Given the description of an element on the screen output the (x, y) to click on. 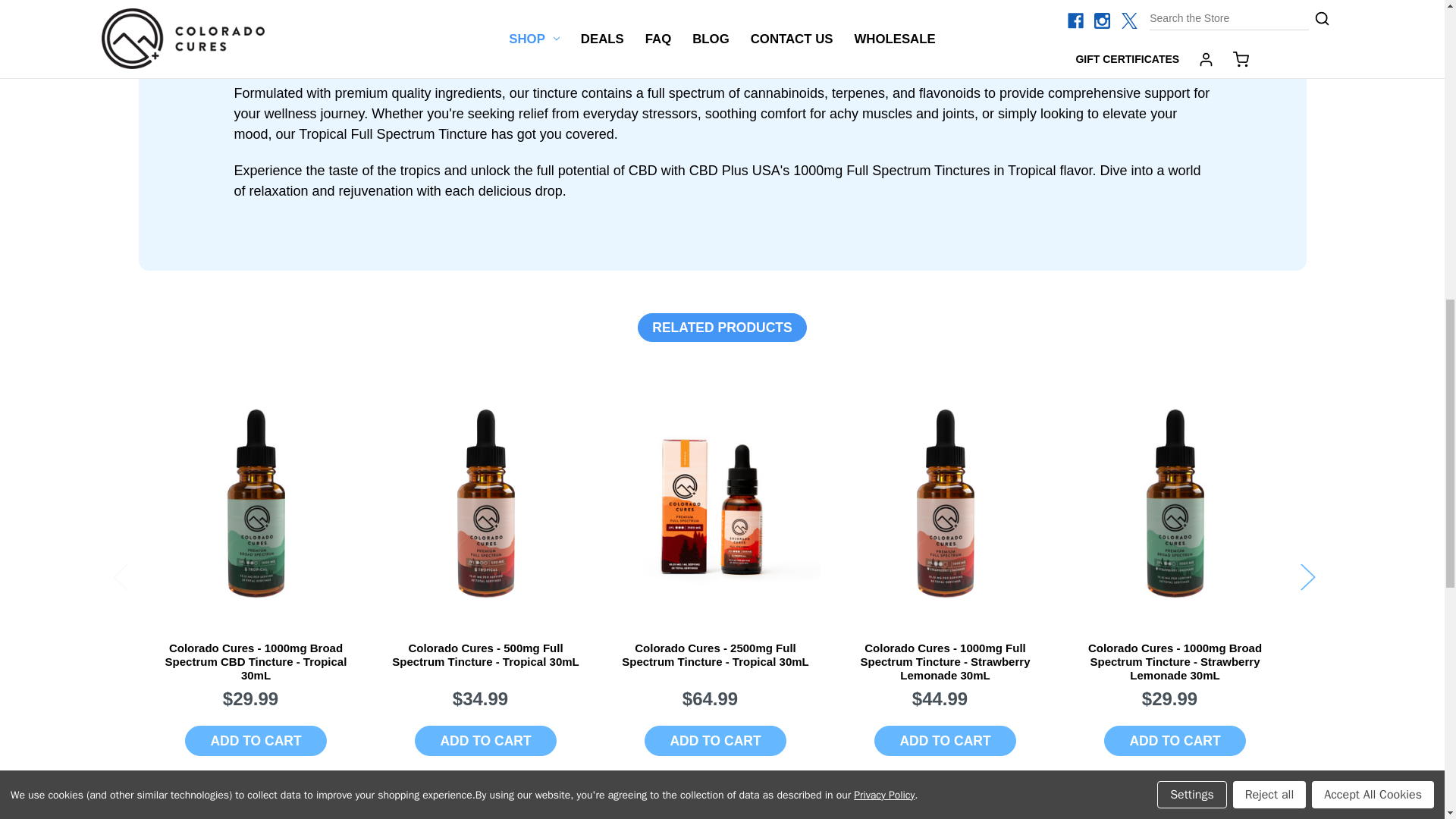
1000mg Broad Spectrum CBD Tincture - Tropical 30mL (256, 503)
500mg Full Spectrum CBD Tincture - Tropical 30mL (484, 503)
